Given the description of an element on the screen output the (x, y) to click on. 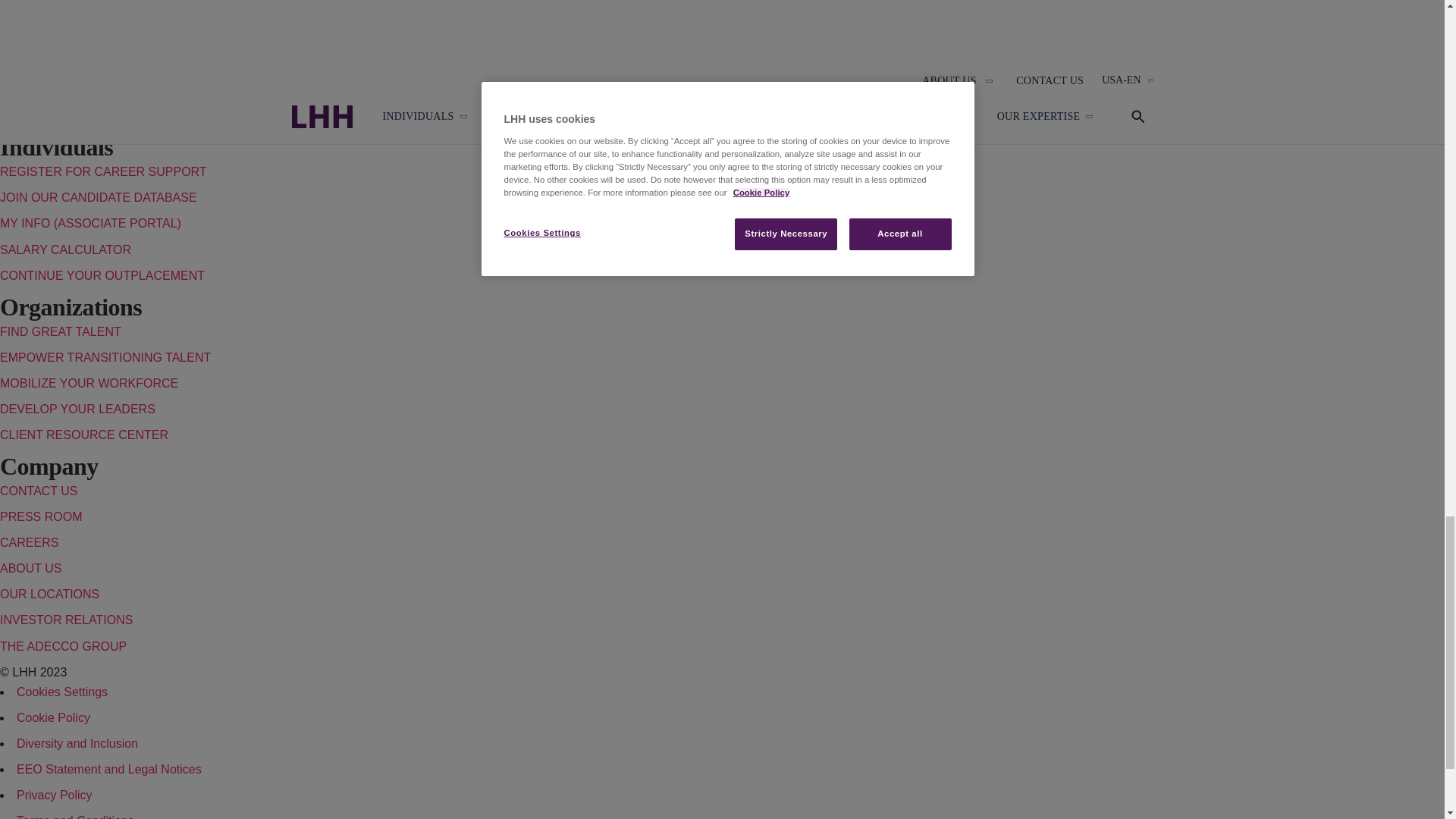
CONTACT US (39, 490)
MOBILIZE YOUR WORKFORCE (88, 382)
REGISTER FOR CAREER SUPPORT (103, 171)
JOIN OUR CANDIDATE DATABASE (98, 196)
EMPOWER TRANSITIONING TALENT (105, 357)
Cookie Settings (61, 691)
INVESTOR RELATIONS (66, 619)
SALARY CALCULATOR (65, 248)
FIND GREAT TALENT (60, 331)
DEVELOP YOUR LEADERS (77, 408)
THE ADECCO GROUP (63, 645)
CAREERS (29, 542)
OUR LOCATIONS (49, 594)
Cookie Policy (53, 717)
CONTINUE YOUR OUTPLACEMENT (102, 275)
